Given the description of an element on the screen output the (x, y) to click on. 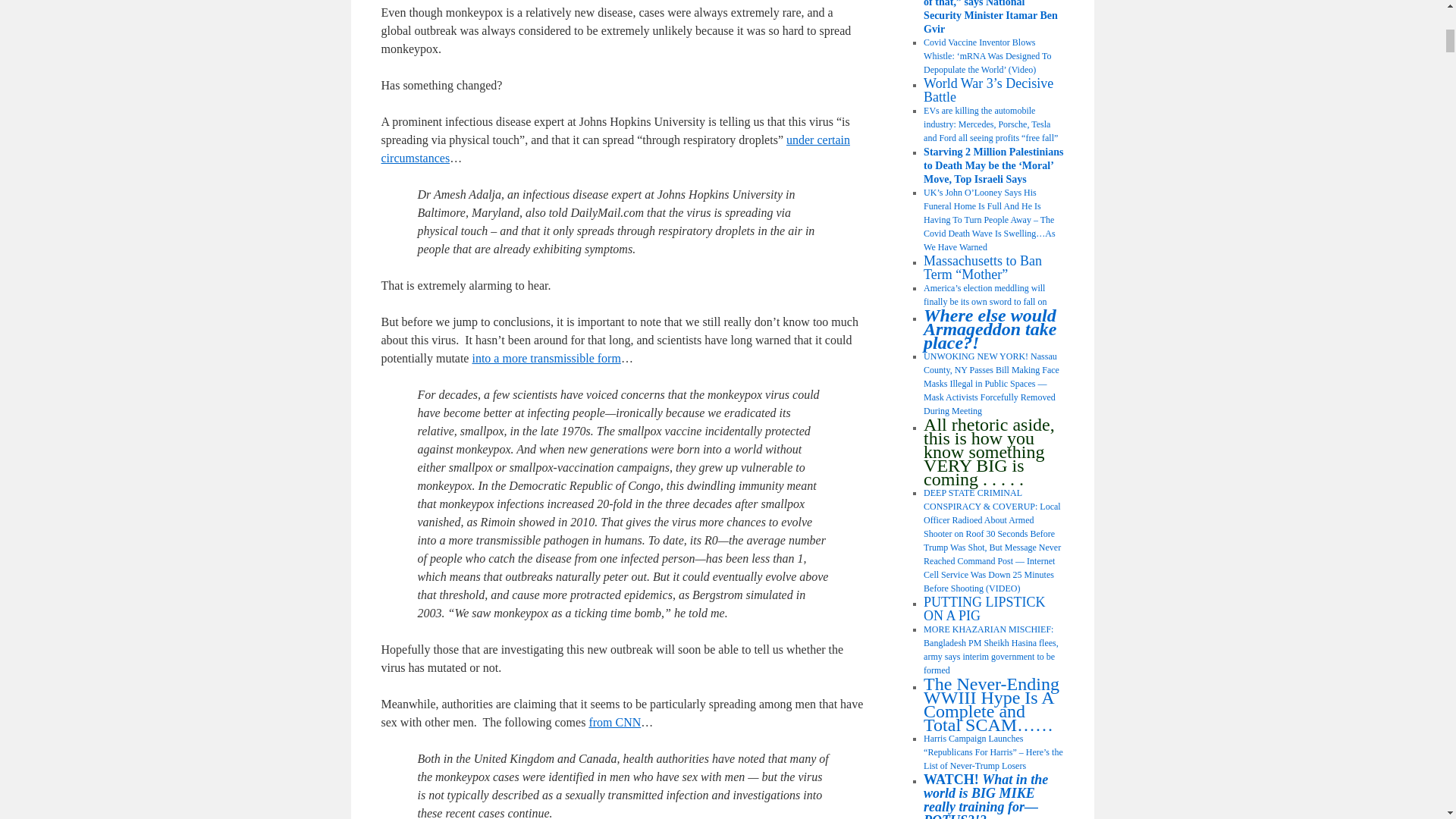
under certain circumstances (614, 148)
